Given the description of an element on the screen output the (x, y) to click on. 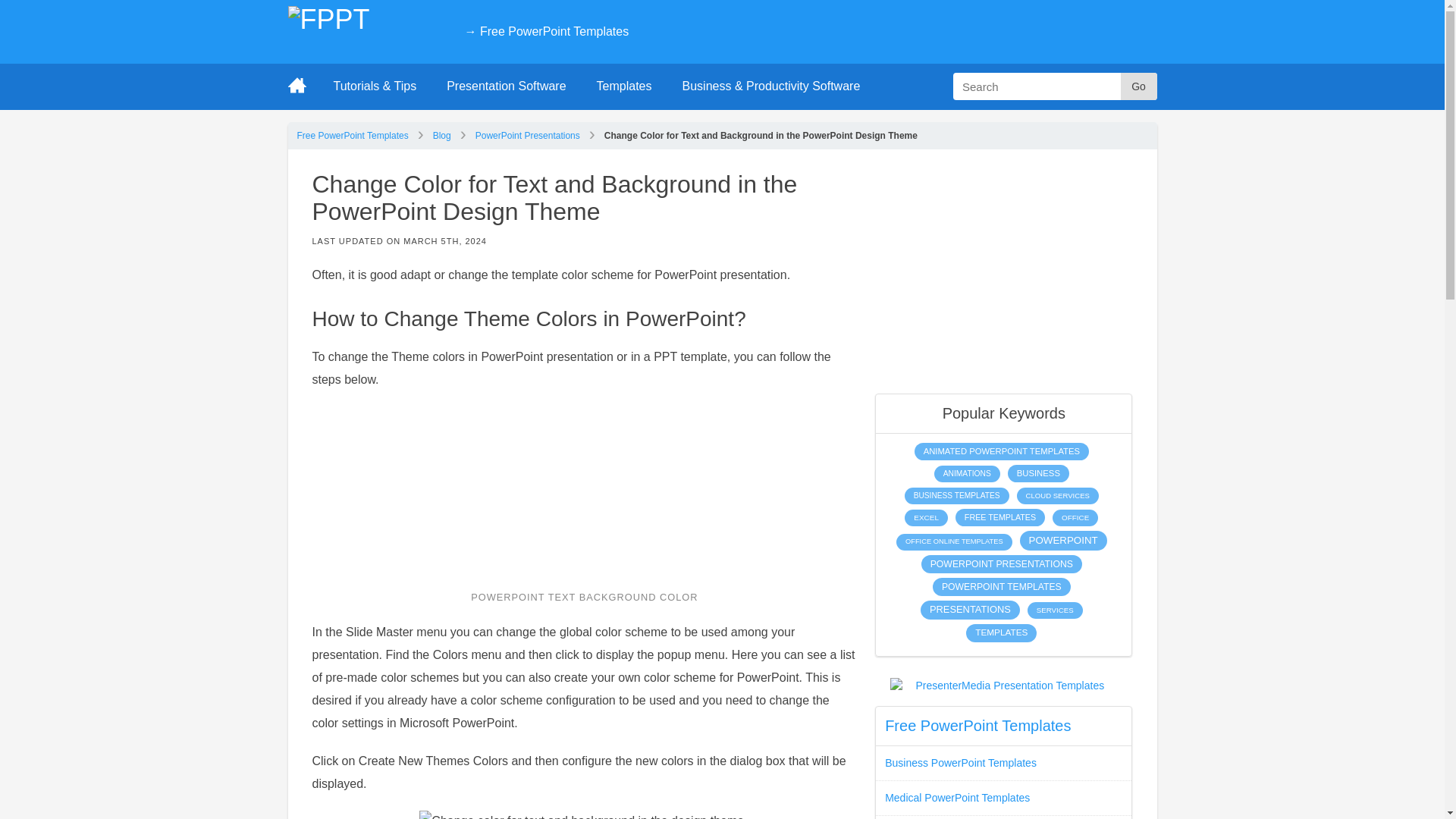
Presentation Software (505, 85)
FREE TEMPLATES (1000, 517)
EXCEL (925, 517)
Go (1139, 85)
ANIMATED POWERPOINT TEMPLATES (1001, 451)
ANIMATIONS (967, 474)
Go (1139, 85)
Templates (623, 85)
PowerPoint Presentations (527, 135)
OFFICE (1074, 517)
BUSINESS TEMPLATES (956, 495)
BUSINESS (1037, 473)
OFFICE ONLINE TEMPLATES (953, 541)
Free PowerPoint Templates (353, 135)
